Given the description of an element on the screen output the (x, y) to click on. 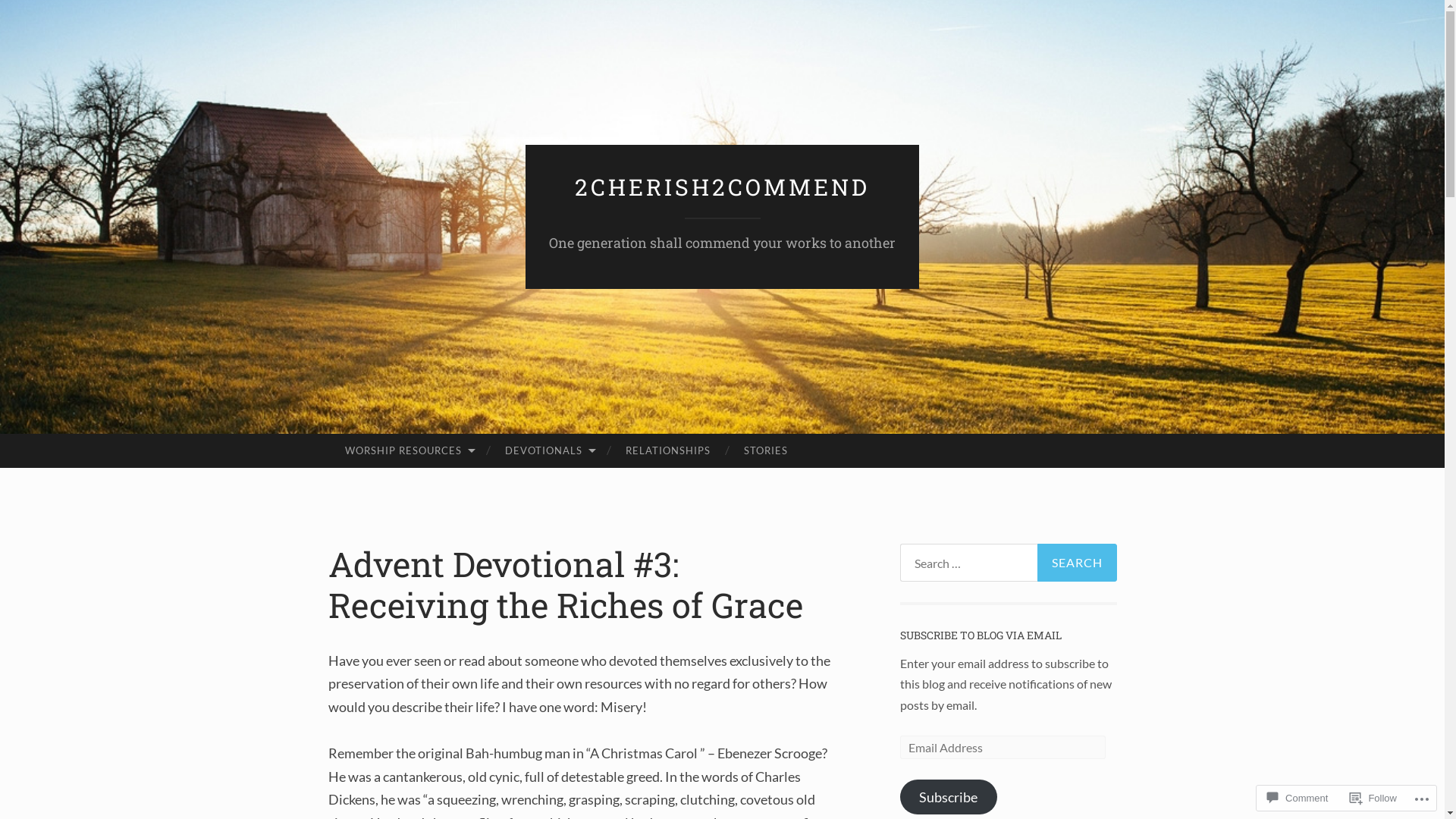
DEVOTIONALS Element type: text (548, 450)
2CHERISH2COMMEND Element type: text (721, 186)
RELATIONSHIPS Element type: text (667, 450)
STORIES Element type: text (765, 450)
Follow Element type: text (1372, 797)
Subscribe Element type: text (948, 796)
Comment Element type: text (1297, 797)
Search Element type: text (1077, 562)
WORSHIP RESOURCES Element type: text (407, 450)
